Given the description of an element on the screen output the (x, y) to click on. 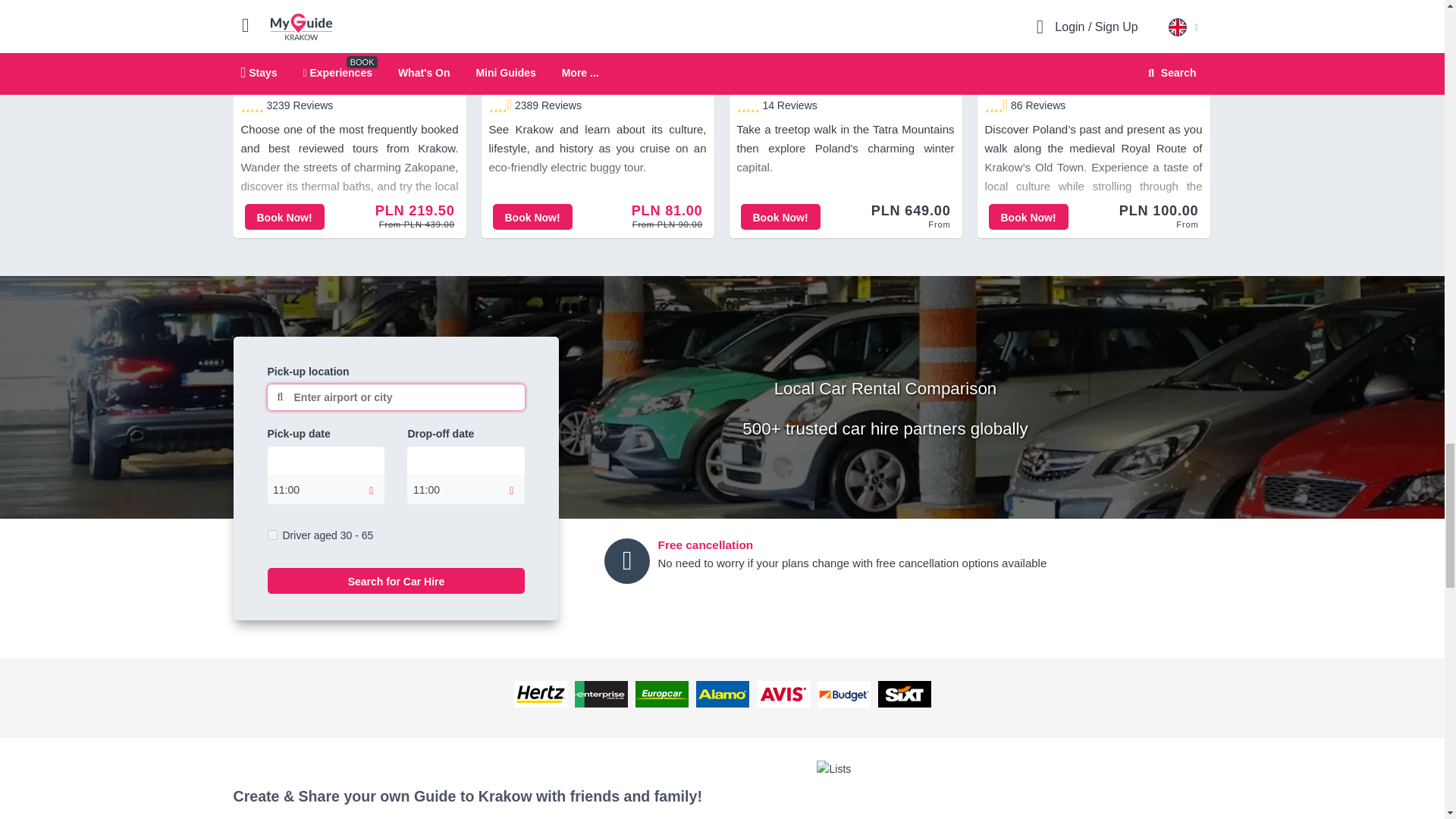
on (271, 534)
